Given the description of an element on the screen output the (x, y) to click on. 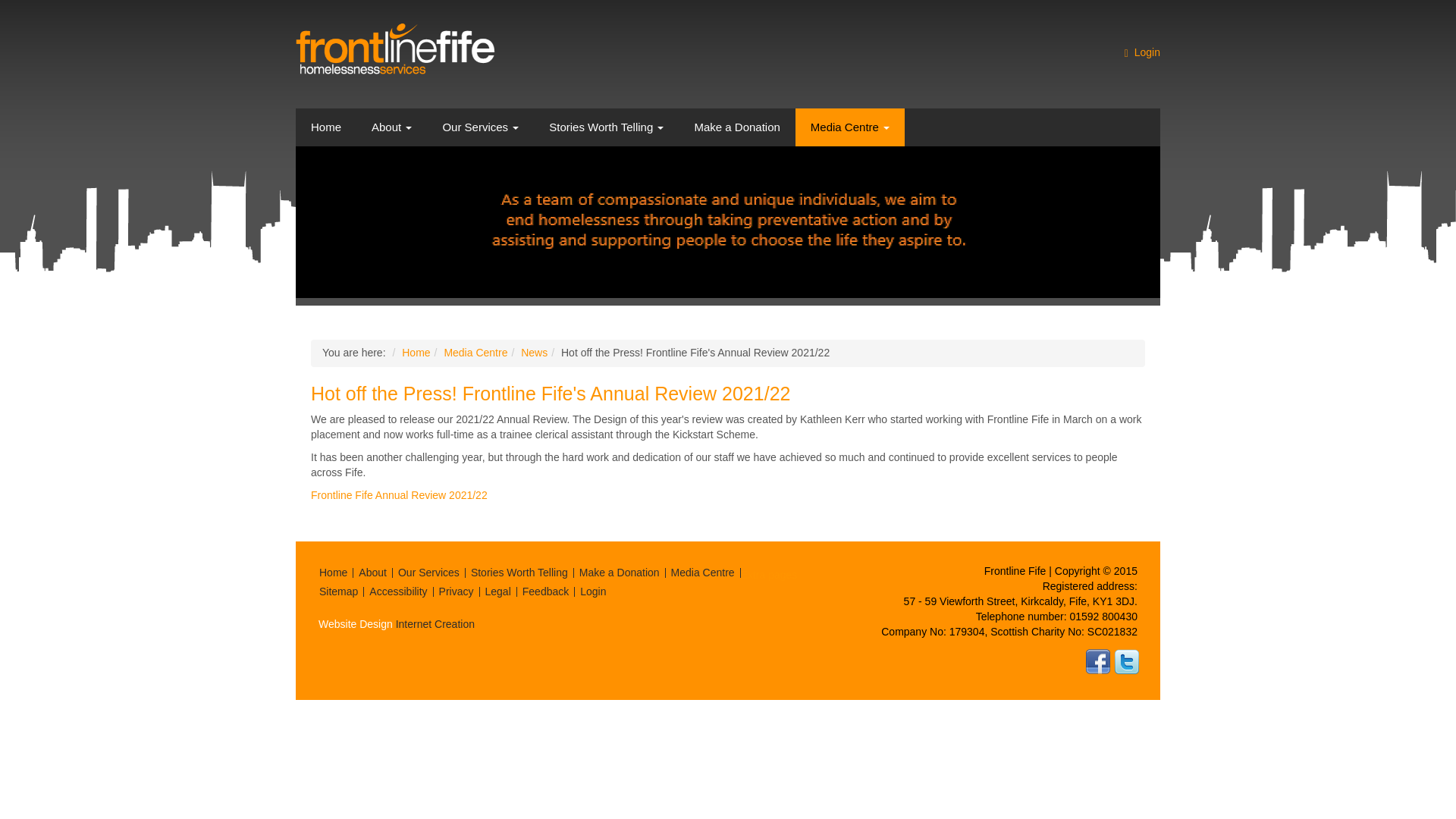
Home (325, 127)
Media Centre (849, 127)
Stories Worth Telling (606, 127)
About (391, 127)
Our Services (480, 127)
Make a Donation (736, 127)
  Login (1155, 51)
